Given the description of an element on the screen output the (x, y) to click on. 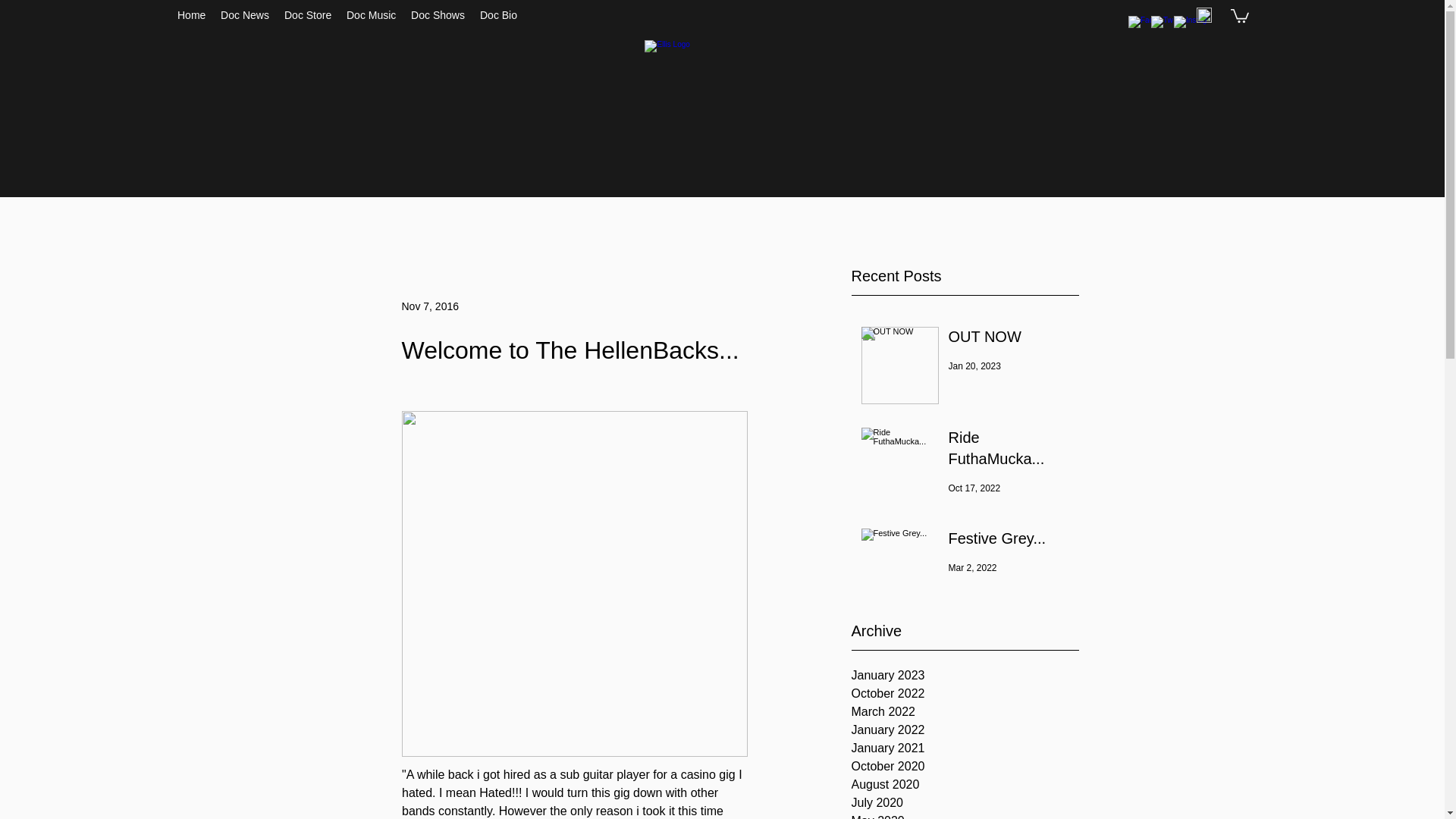
Doc Shows (437, 15)
August 2020 (964, 784)
OUT NOW (1007, 338)
Oct 17, 2022 (973, 488)
Doc Bio (497, 15)
Ride FuthaMucka... (1007, 450)
January 2023 (964, 675)
January 2022 (964, 730)
January 2021 (964, 748)
Festive Grey... (1007, 541)
